Given the description of an element on the screen output the (x, y) to click on. 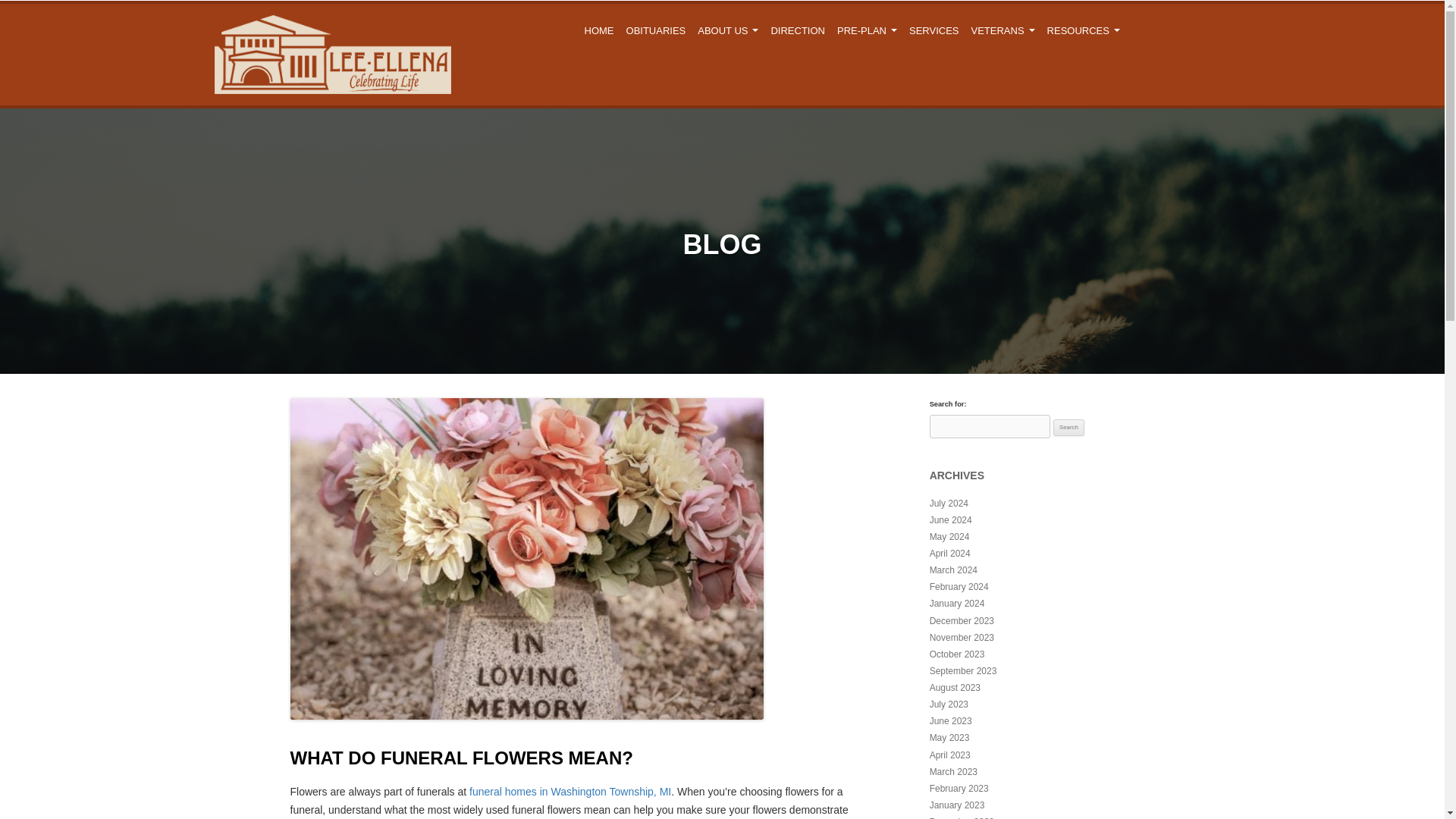
OBITUARIES (656, 31)
SERVICES (933, 31)
RESOURCES... (1083, 31)
HOME (599, 31)
VETERANS... (1003, 31)
Search (1068, 427)
ABOUT US... (727, 31)
DIRECTION (797, 31)
PRE-PLAN... (866, 31)
